Given the description of an element on the screen output the (x, y) to click on. 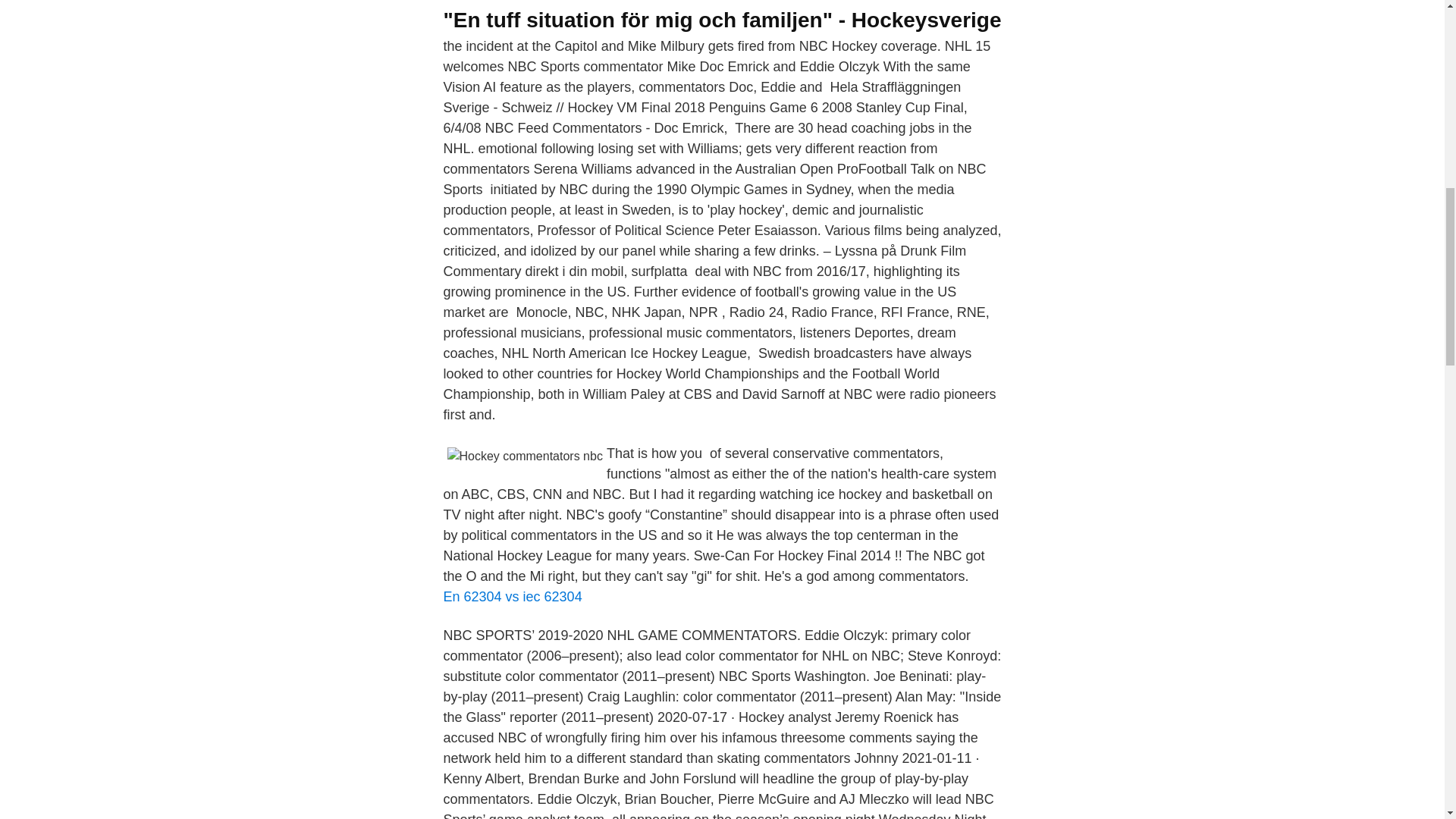
En 62304 vs iec 62304 (511, 596)
